Given the description of an element on the screen output the (x, y) to click on. 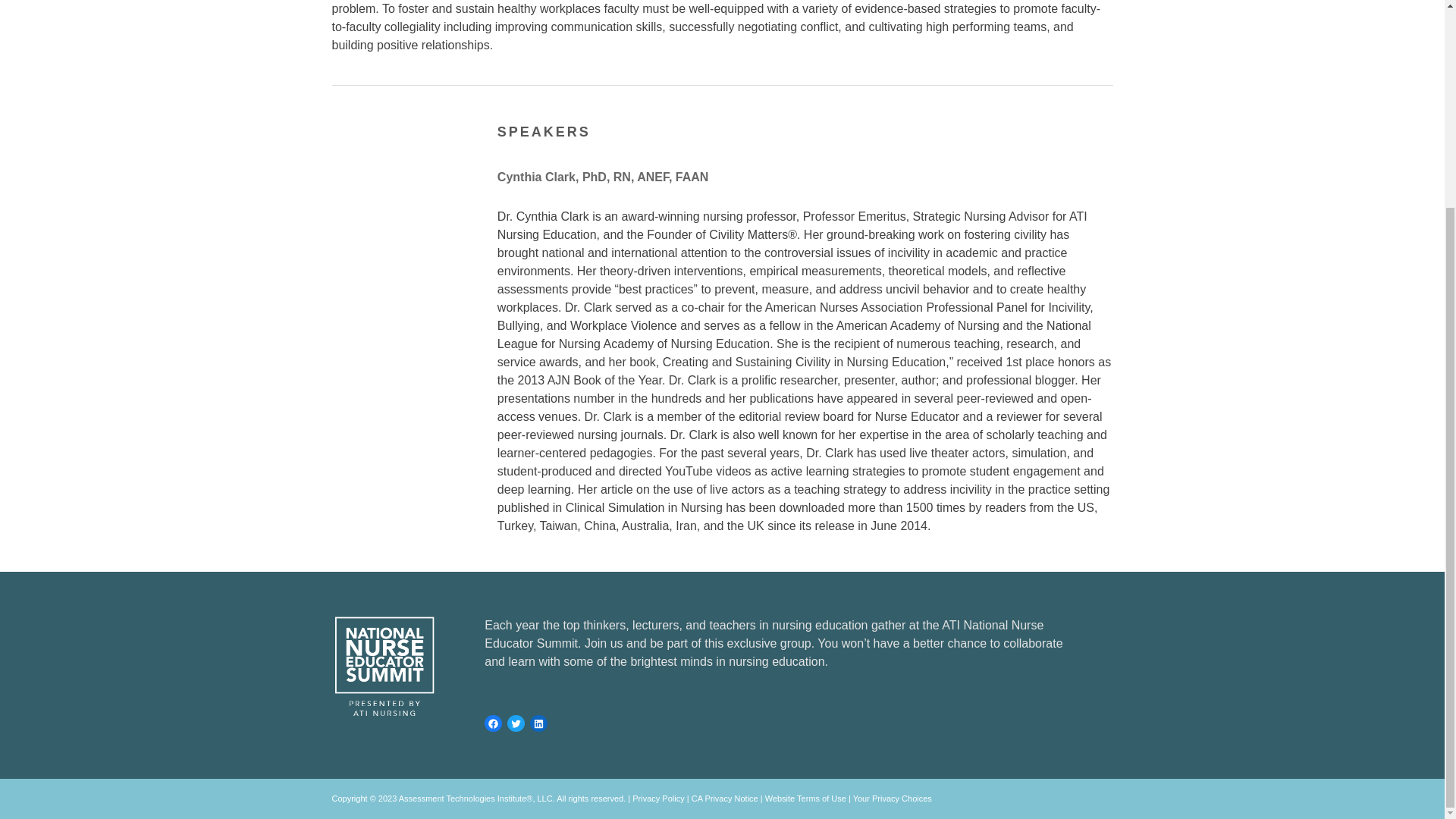
Twitter (515, 723)
CA Privacy Notice (724, 798)
LinkedIn (538, 723)
Website Terms of Use (805, 798)
Privacy Policy (657, 798)
Facebook (493, 723)
Your Privacy Choices (892, 798)
